Given the description of an element on the screen output the (x, y) to click on. 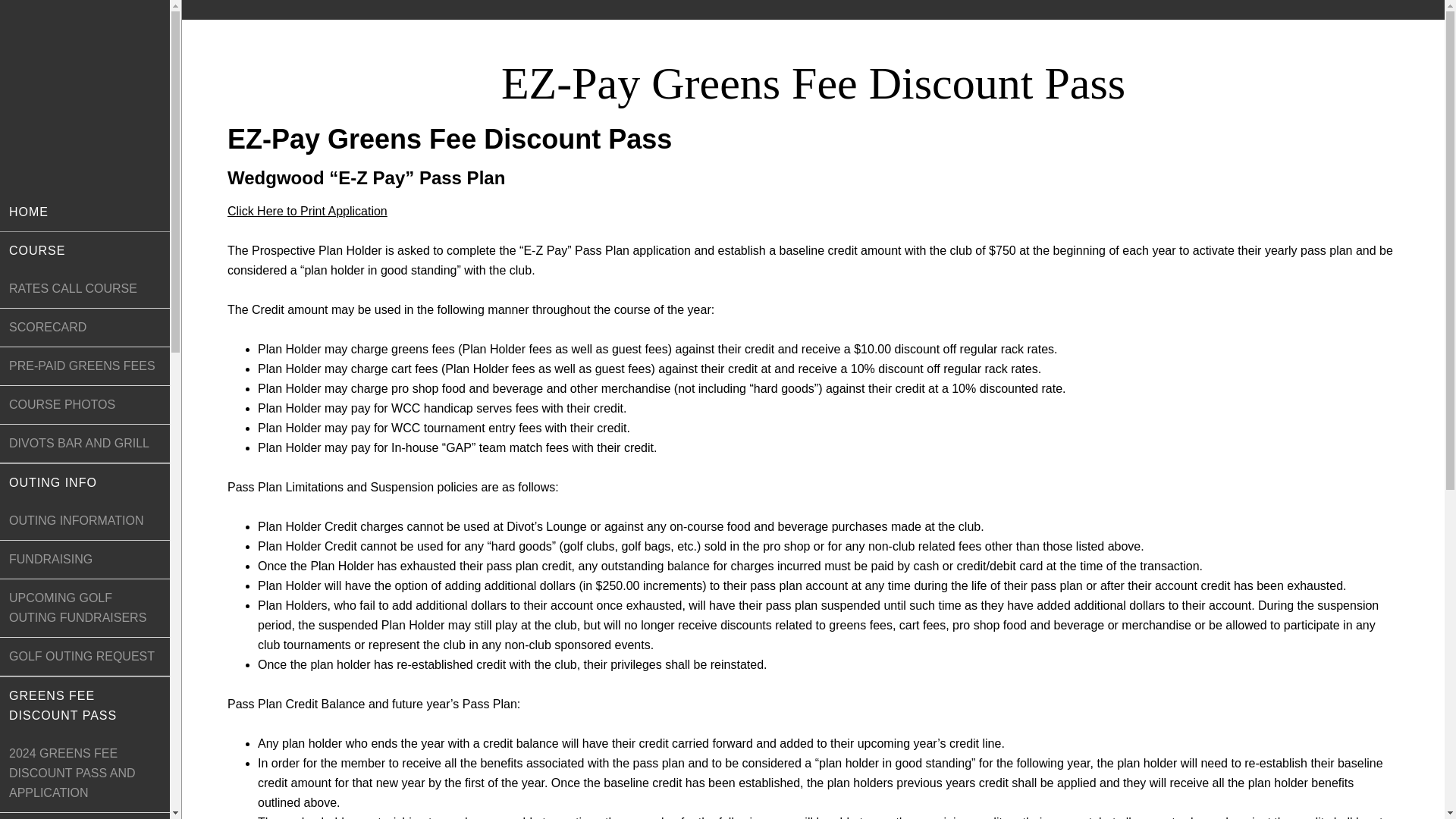
COURSE PHOTOS (85, 405)
FUNDRAISING (85, 559)
COURSE (85, 250)
RATES CALL COURSE (85, 289)
OUTING INFO (85, 483)
GREENS FEE DISCOUNT PASS (85, 705)
PRE-PAID GREENS FEES (85, 366)
Click Here to Print Application (307, 210)
WEDGWOODCOUNTRYCLUB (84, 96)
2024 GREENS FEE DISCOUNT PASS AND APPLICATION (85, 773)
SCORECARD (85, 327)
UPCOMING GOLF OUTING FUNDRAISERS (85, 608)
DIVOTS BAR AND GRILL (85, 444)
HOME (85, 211)
